Given the description of an element on the screen output the (x, y) to click on. 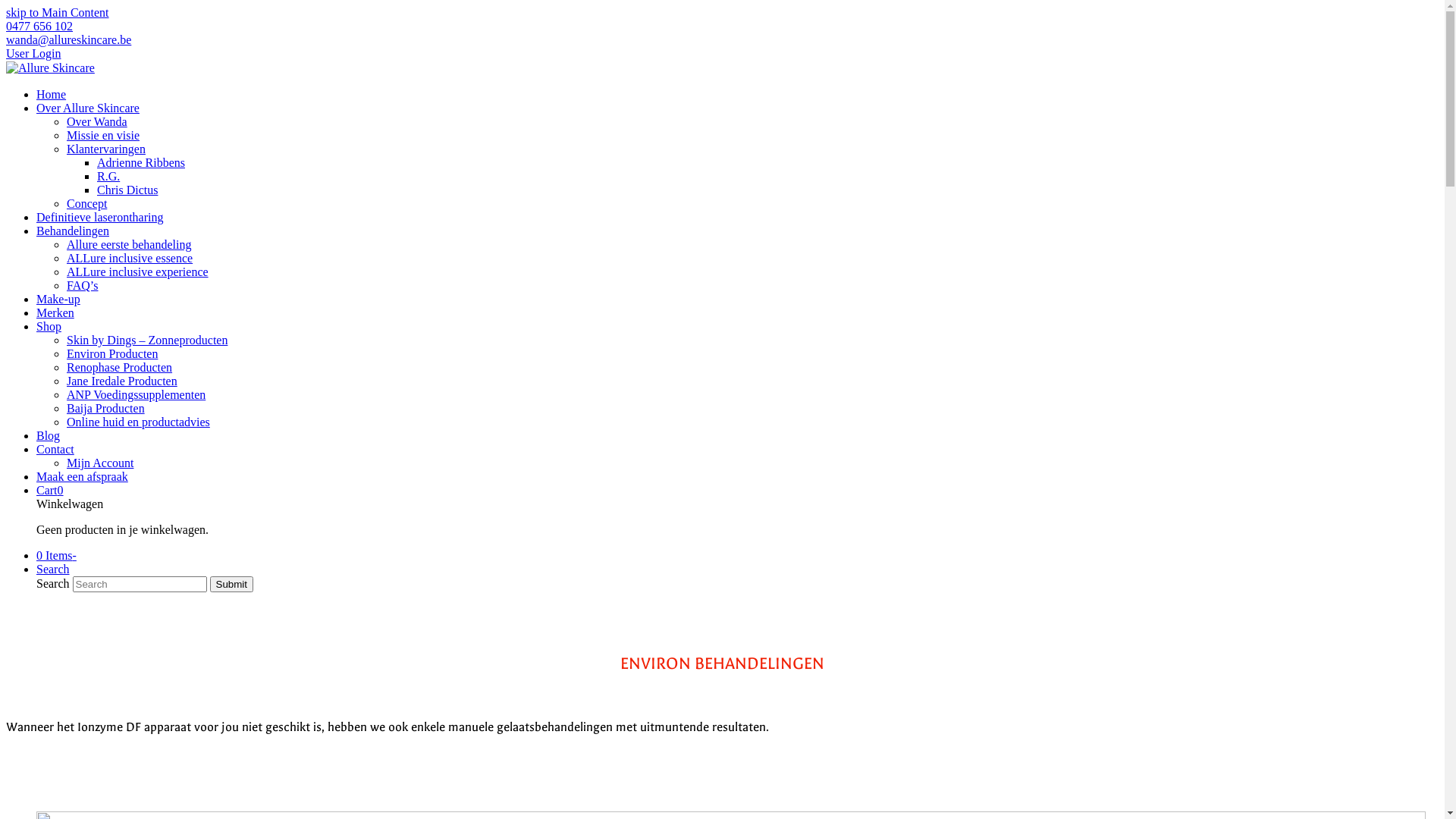
Home Element type: text (50, 93)
Over Allure Skincare Element type: text (87, 107)
Contact Element type: text (55, 448)
Submit Element type: text (231, 584)
Cart0 Element type: text (49, 489)
Missie en visie Element type: text (102, 134)
Allure eerste behandeling Element type: text (128, 244)
Search Element type: text (52, 568)
Klantervaringen Element type: text (105, 148)
ANP Voedingssupplementen Element type: text (135, 394)
Over Wanda Element type: text (96, 121)
Blog Element type: text (47, 435)
Baija Producten Element type: text (105, 407)
ALLure inclusive experience Element type: text (137, 271)
wanda@allureskincare.be Element type: text (68, 39)
R.G. Element type: text (108, 175)
Make-up Element type: text (58, 298)
Renophase Producten Element type: text (119, 366)
Mijn Account Element type: text (99, 462)
Online huid en productadvies Element type: text (138, 421)
skip to Main Content Element type: text (57, 12)
Behandelingen Element type: text (72, 230)
Concept Element type: text (86, 203)
0477 656 102 Element type: text (39, 25)
User Login Element type: text (33, 53)
Maak een afspraak Element type: text (82, 476)
0 Items- Element type: text (56, 555)
Chris Dictus Element type: text (127, 189)
ALLure inclusive essence Element type: text (129, 257)
Jane Iredale Producten Element type: text (121, 380)
Shop Element type: text (48, 326)
Environ Producten Element type: text (111, 353)
Adrienne Ribbens Element type: text (141, 162)
Merken Element type: text (55, 312)
Definitieve laserontharing Element type: text (99, 216)
